Given the description of an element on the screen output the (x, y) to click on. 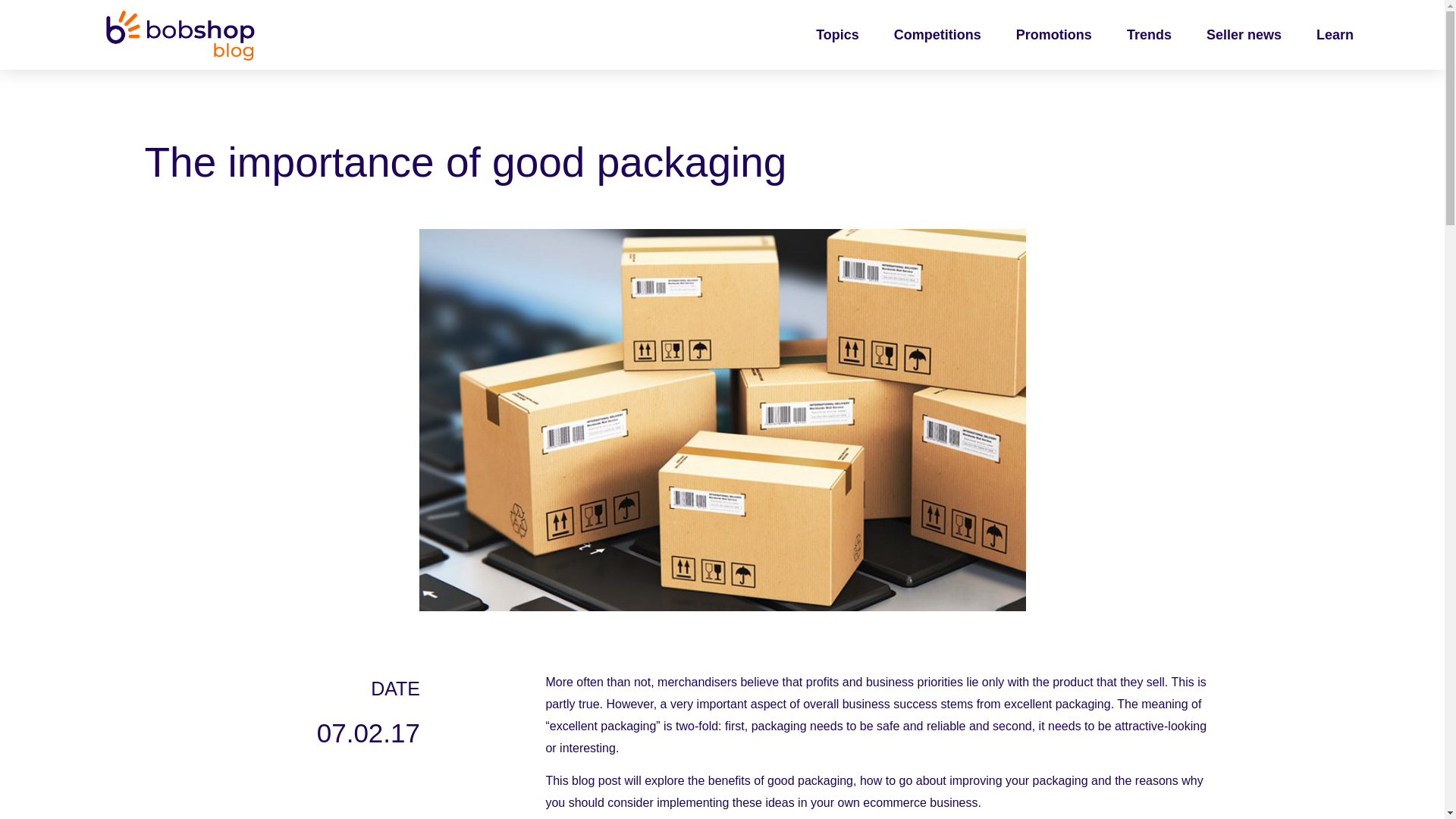
Seller news (1244, 34)
Promotions (1053, 34)
Learn (1334, 34)
Trends (1149, 34)
Topics (837, 34)
Competitions (937, 34)
